Given the description of an element on the screen output the (x, y) to click on. 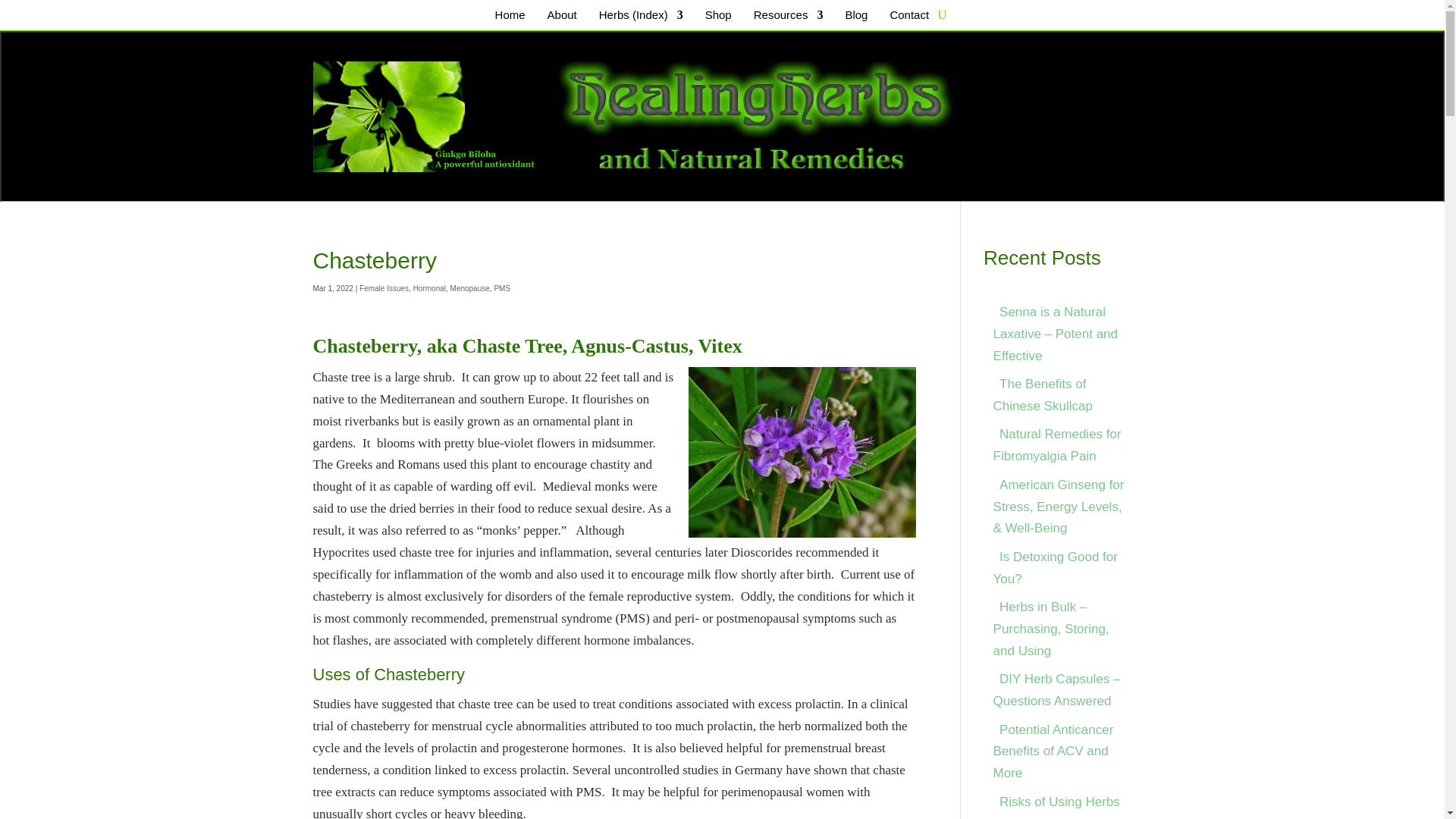
Hormonal (429, 288)
Contact (905, 17)
Shop (716, 17)
Female Issues (384, 288)
Home (507, 17)
HerbsAndNaturalRemedies (677, 116)
Blog (853, 17)
Resources (786, 17)
Menopause (469, 288)
About (558, 17)
